Given the description of an element on the screen output the (x, y) to click on. 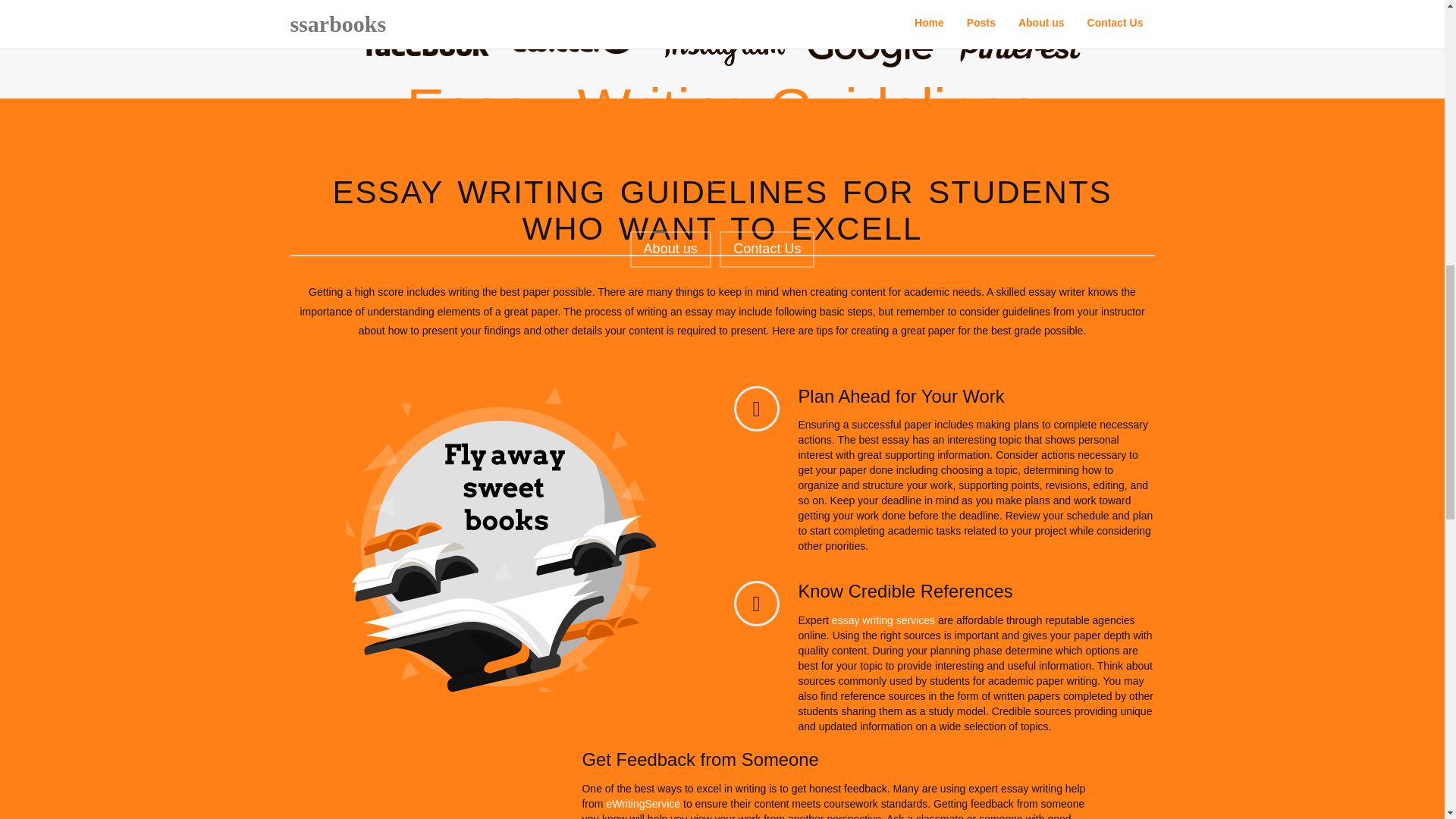
essay writing services (882, 620)
Contact Us (766, 248)
eWritingService (642, 803)
About us (670, 248)
